Given the description of an element on the screen output the (x, y) to click on. 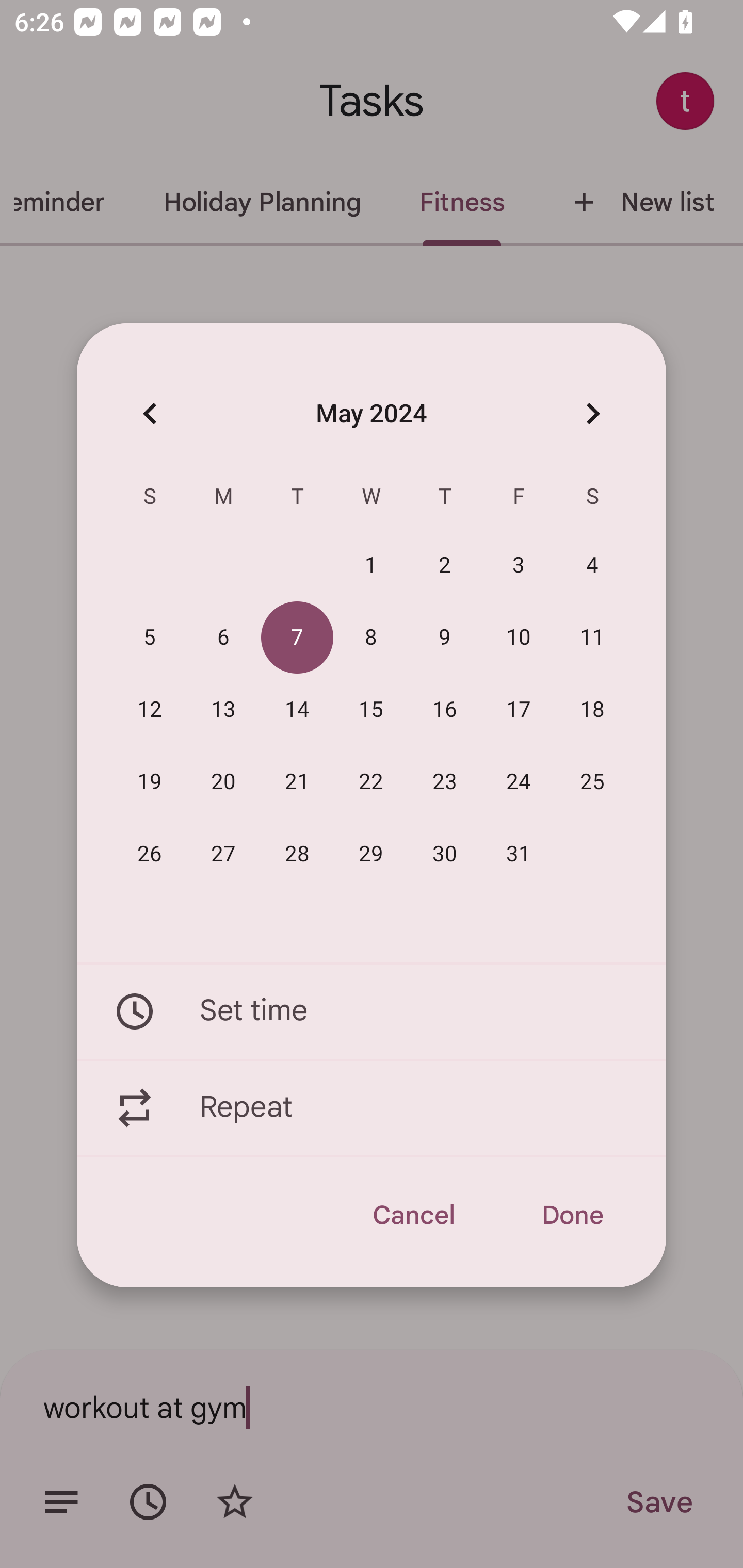
Previous month (149, 413)
Next month (592, 413)
1 01 May 2024 (370, 565)
2 02 May 2024 (444, 565)
3 03 May 2024 (518, 565)
4 04 May 2024 (592, 565)
5 05 May 2024 (149, 638)
6 06 May 2024 (223, 638)
7 07 May 2024 (297, 638)
8 08 May 2024 (370, 638)
9 09 May 2024 (444, 638)
10 10 May 2024 (518, 638)
11 11 May 2024 (592, 638)
12 12 May 2024 (149, 710)
13 13 May 2024 (223, 710)
14 14 May 2024 (297, 710)
15 15 May 2024 (370, 710)
16 16 May 2024 (444, 710)
17 17 May 2024 (518, 710)
18 18 May 2024 (592, 710)
19 19 May 2024 (149, 782)
20 20 May 2024 (223, 782)
21 21 May 2024 (297, 782)
22 22 May 2024 (370, 782)
23 23 May 2024 (444, 782)
24 24 May 2024 (518, 782)
25 25 May 2024 (592, 782)
26 26 May 2024 (149, 854)
27 27 May 2024 (223, 854)
28 28 May 2024 (297, 854)
29 29 May 2024 (370, 854)
30 30 May 2024 (444, 854)
31 31 May 2024 (518, 854)
Set time (371, 1011)
Repeat (371, 1108)
Cancel (412, 1215)
Done (571, 1215)
